Given the description of an element on the screen output the (x, y) to click on. 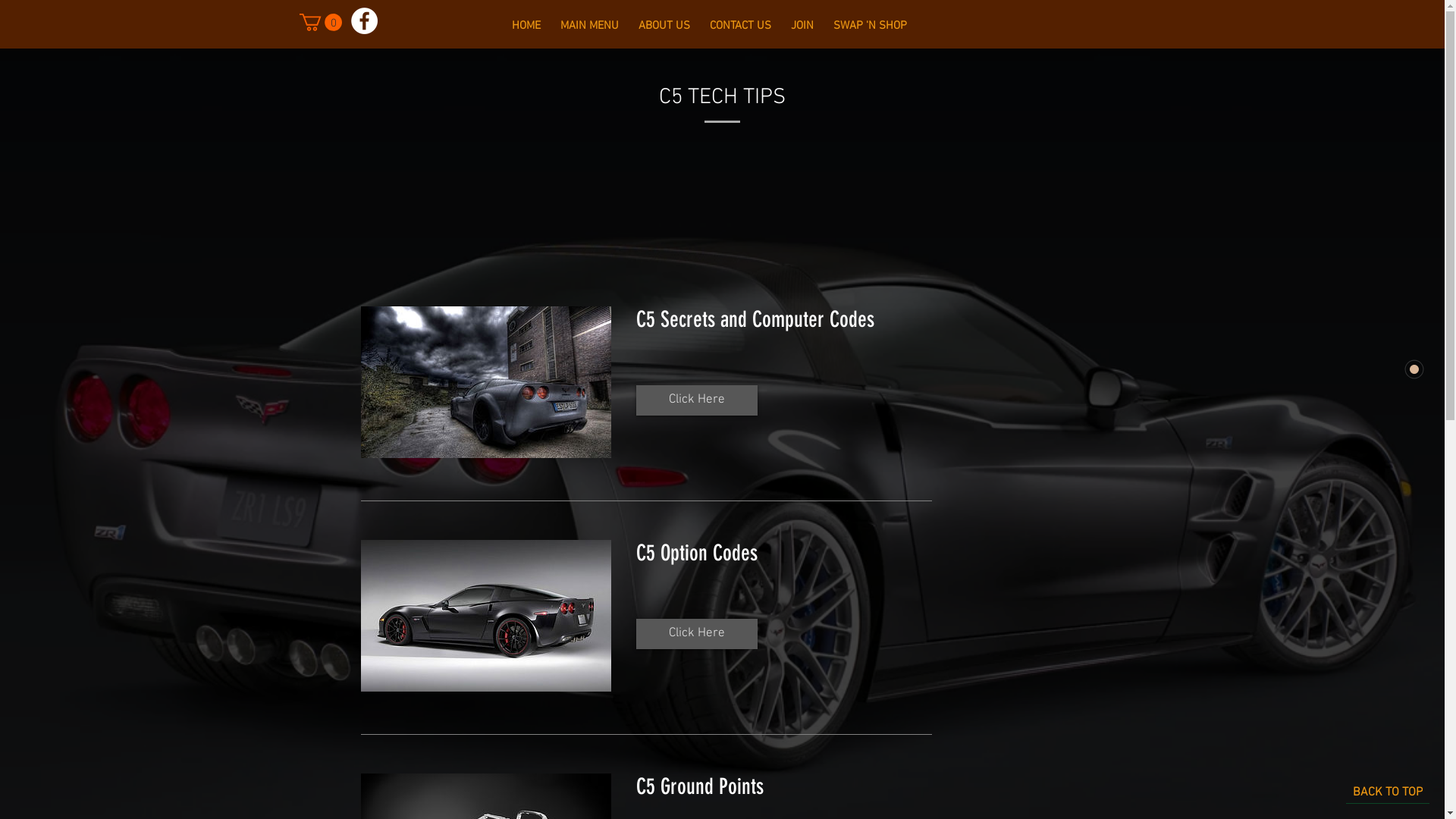
C5 Corvette 3.jpg Element type: hover (485, 615)
0 Element type: text (319, 22)
BACK TO TOP Element type: text (1387, 792)
Click Here Element type: text (695, 400)
ABOUT US Element type: text (663, 27)
HOME Element type: text (526, 27)
CONTACT US Element type: text (740, 27)
JOIN Element type: text (802, 27)
Click Here Element type: text (695, 633)
MAIN MENU Element type: text (589, 27)
SWAP 'N SHOP Element type: text (869, 27)
